Given the description of an element on the screen output the (x, y) to click on. 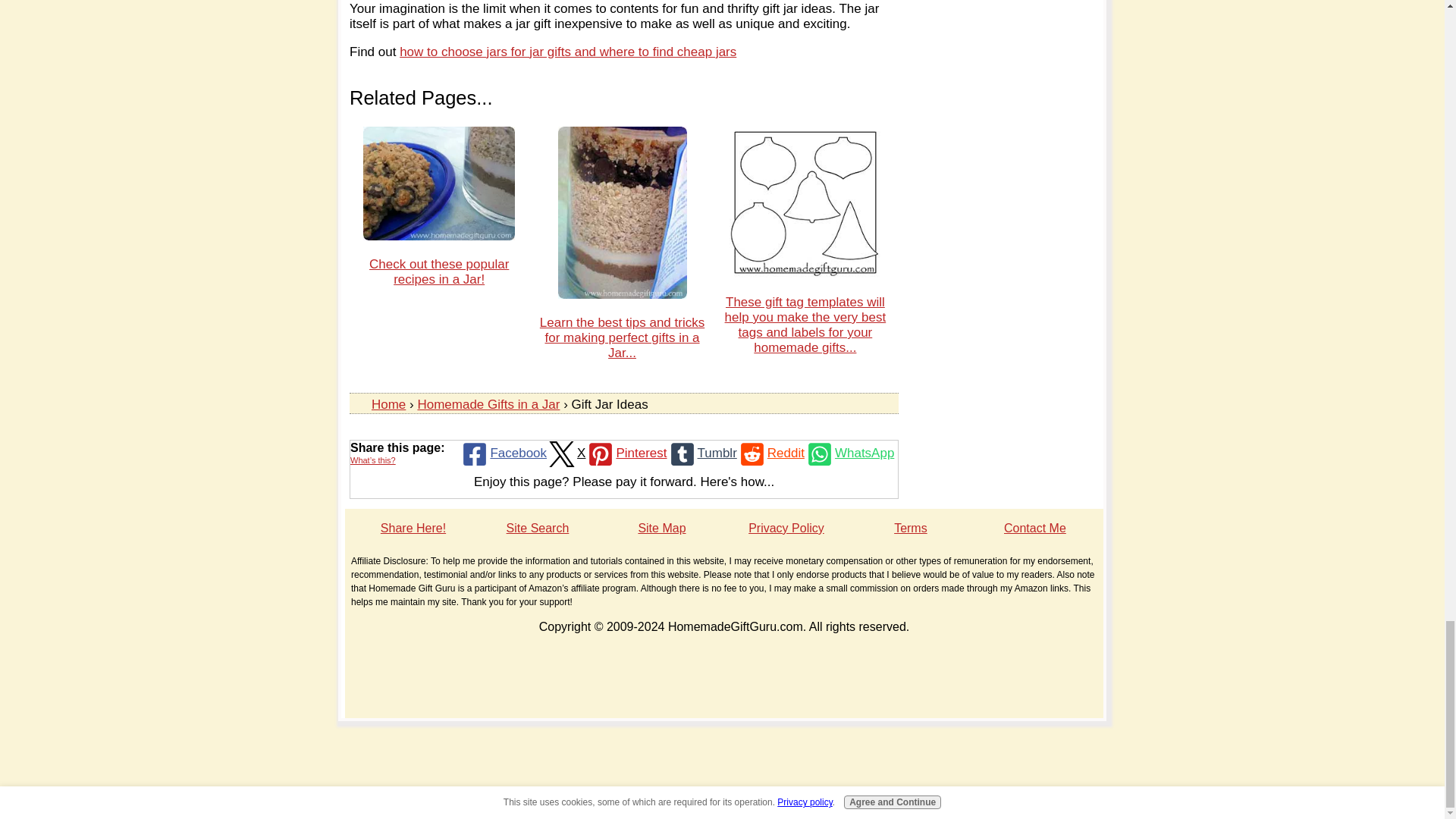
Go to Recipes in a Jar (438, 236)
Go to Free Printable Crafts and Templates (804, 273)
Go to Best Gifts in a Jar Tips, Tricks and Instructions (622, 294)
